Given the description of an element on the screen output the (x, y) to click on. 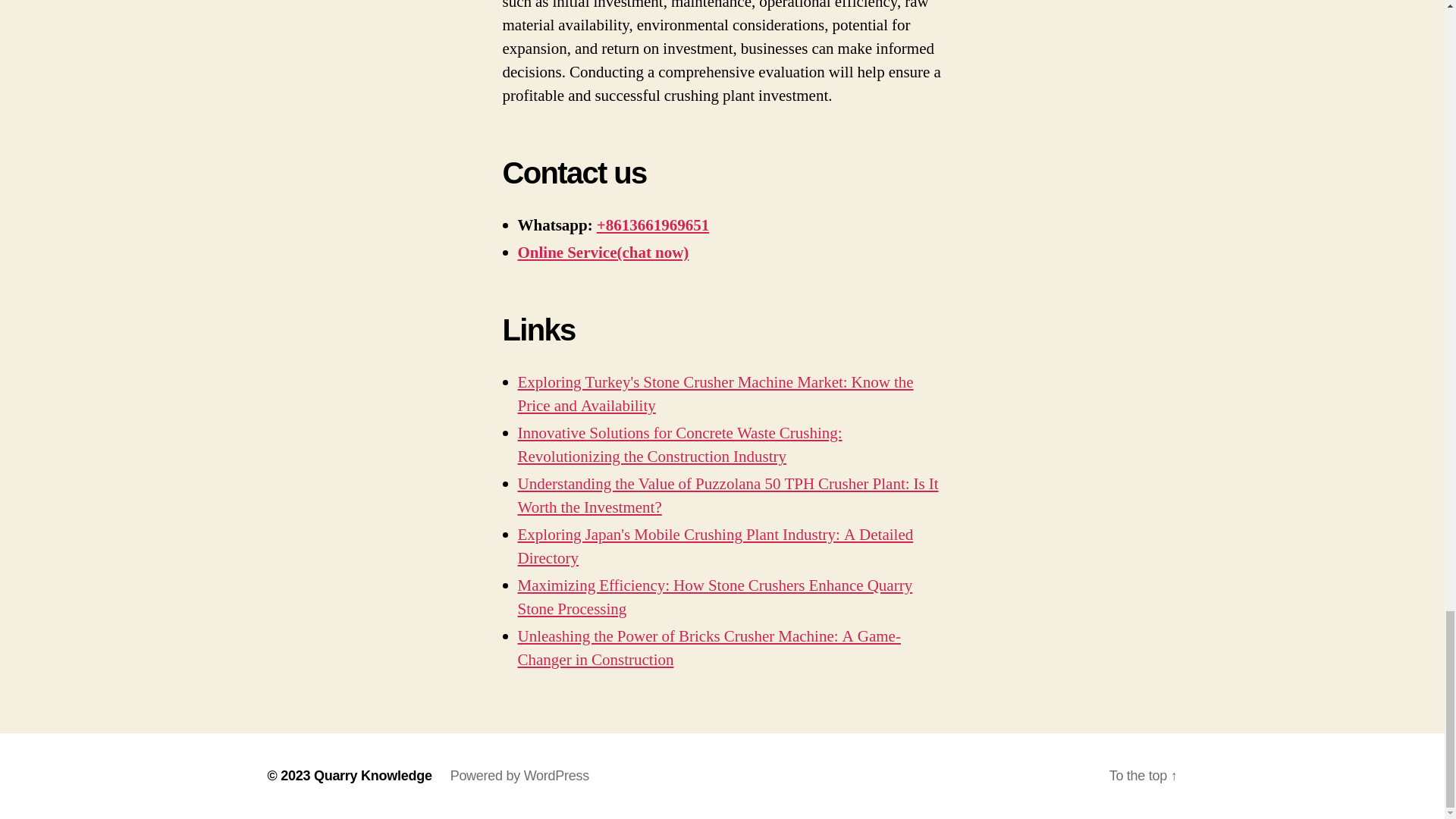
Quarry Knowledge (373, 775)
Powered by WordPress (519, 775)
